Given the description of an element on the screen output the (x, y) to click on. 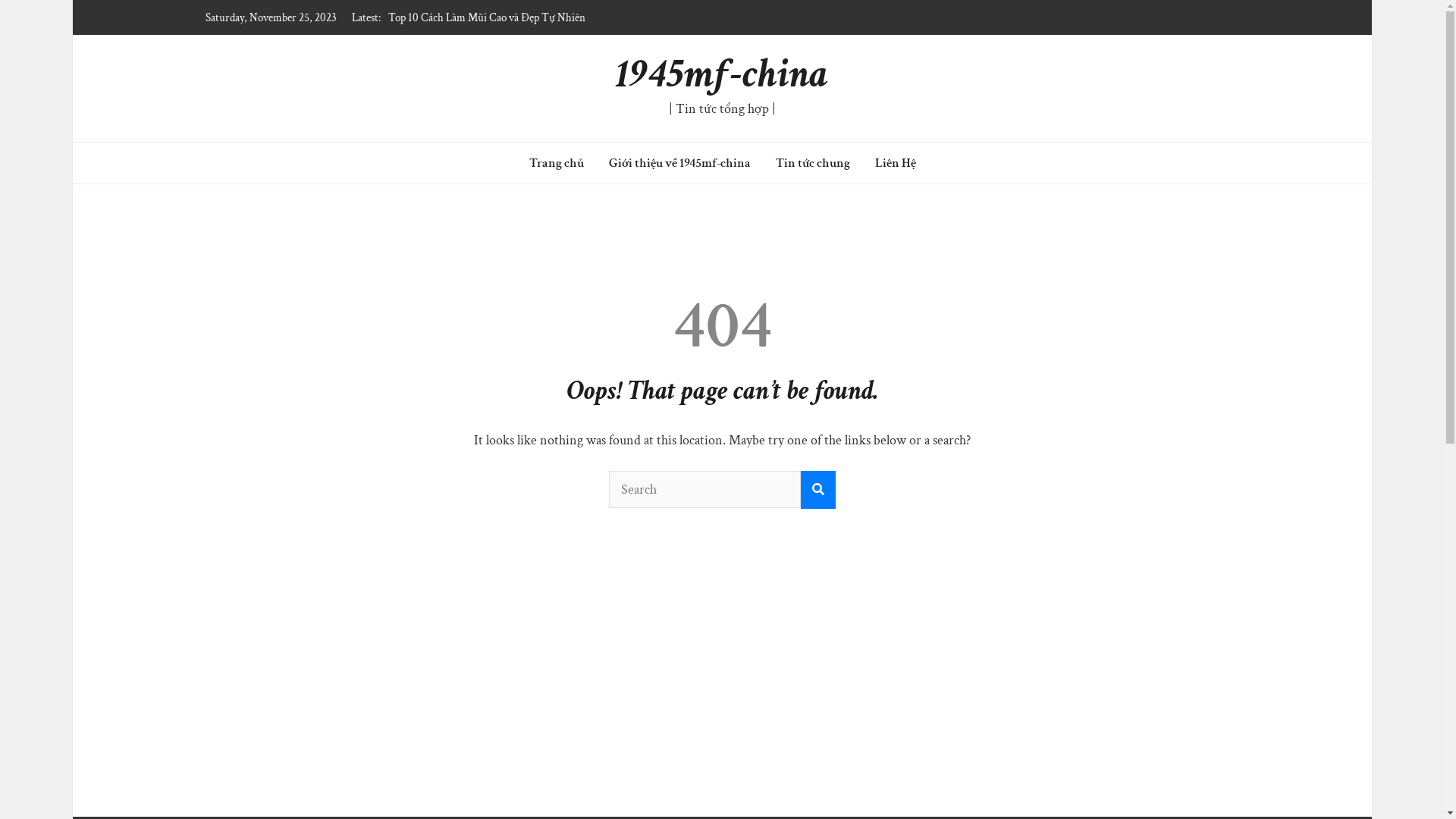
1945mf-china Element type: text (722, 73)
